Given the description of an element on the screen output the (x, y) to click on. 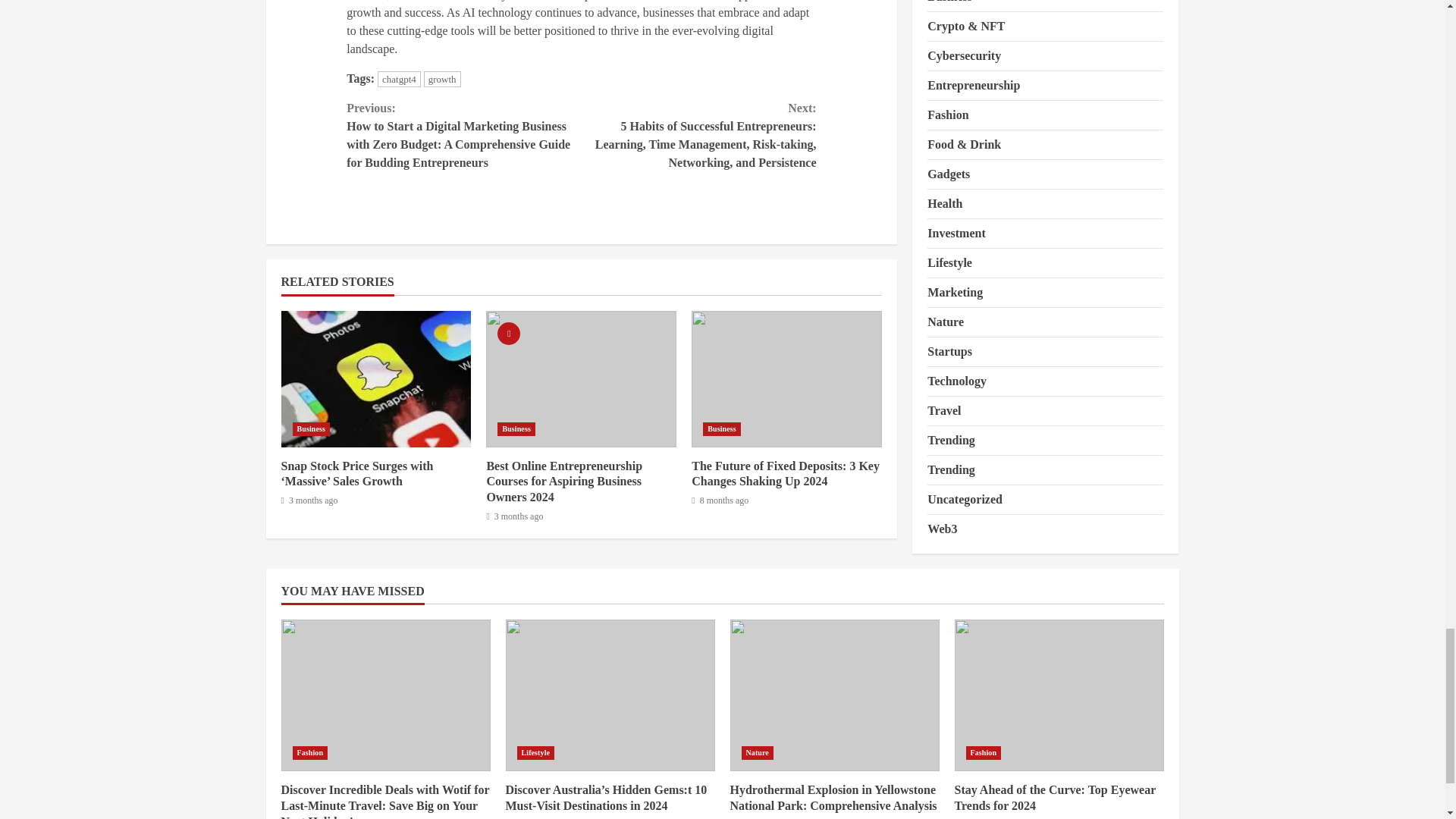
chatgpt4 (398, 78)
Business (722, 428)
The Future of Fixed Deposits: 3 Key Changes Shaking Up 2024 (785, 473)
Business (516, 428)
Business (311, 428)
The Future of Fixed Deposits: 3 Key Changes Shaking Up 2024 (786, 379)
growth (442, 78)
